Given the description of an element on the screen output the (x, y) to click on. 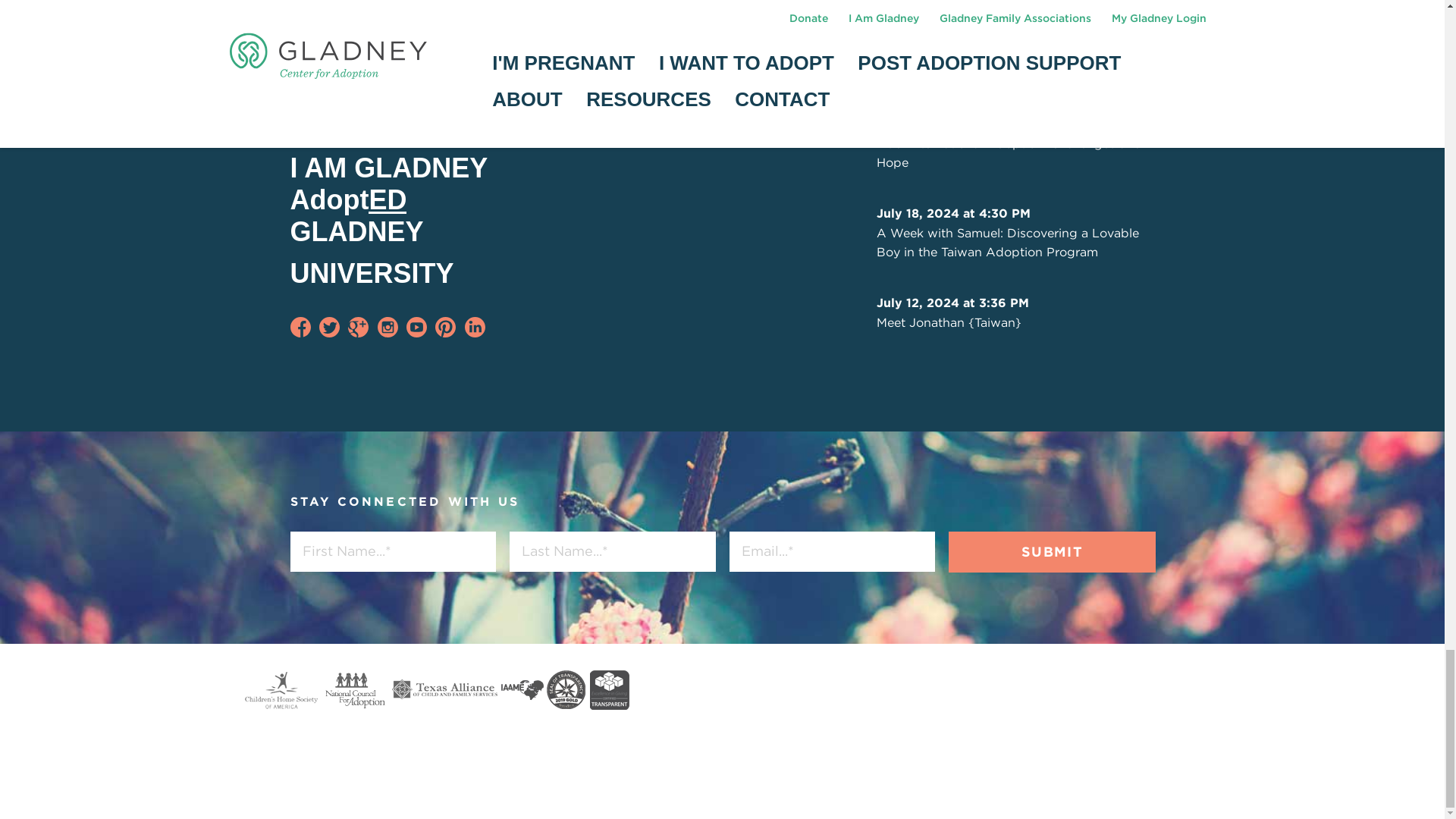
Follow Us On Twitter (328, 326)
Like Us On Facebook (299, 326)
See all events... (653, 78)
Follow Us On Instagram (387, 326)
Submit (1051, 551)
Visit the Childrens Home Society of America website (280, 690)
Visit the National Council for Adoption website (354, 690)
Join Us On LinkedIn (474, 326)
See Us On YouTube (416, 326)
Follow Us On Pinterest (445, 326)
